Given the description of an element on the screen output the (x, y) to click on. 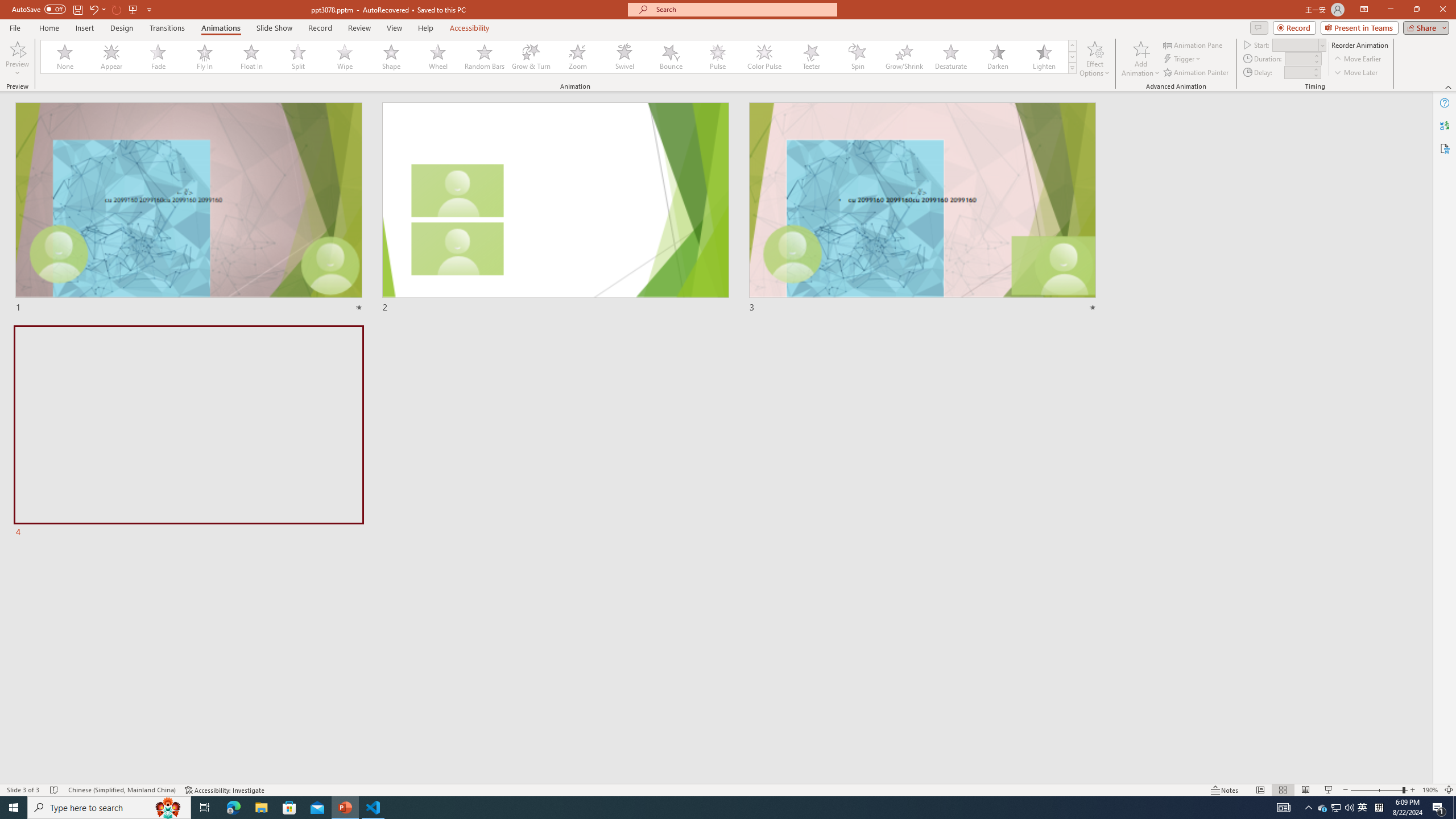
Wheel (437, 56)
None (65, 56)
Animation Styles (1071, 67)
Less (1315, 75)
Preview (17, 58)
Desaturate (950, 56)
Darken (997, 56)
Trigger (1182, 58)
Row up (1071, 45)
Accessibility Checker Accessibility: Investigate (224, 790)
